Given the description of an element on the screen output the (x, y) to click on. 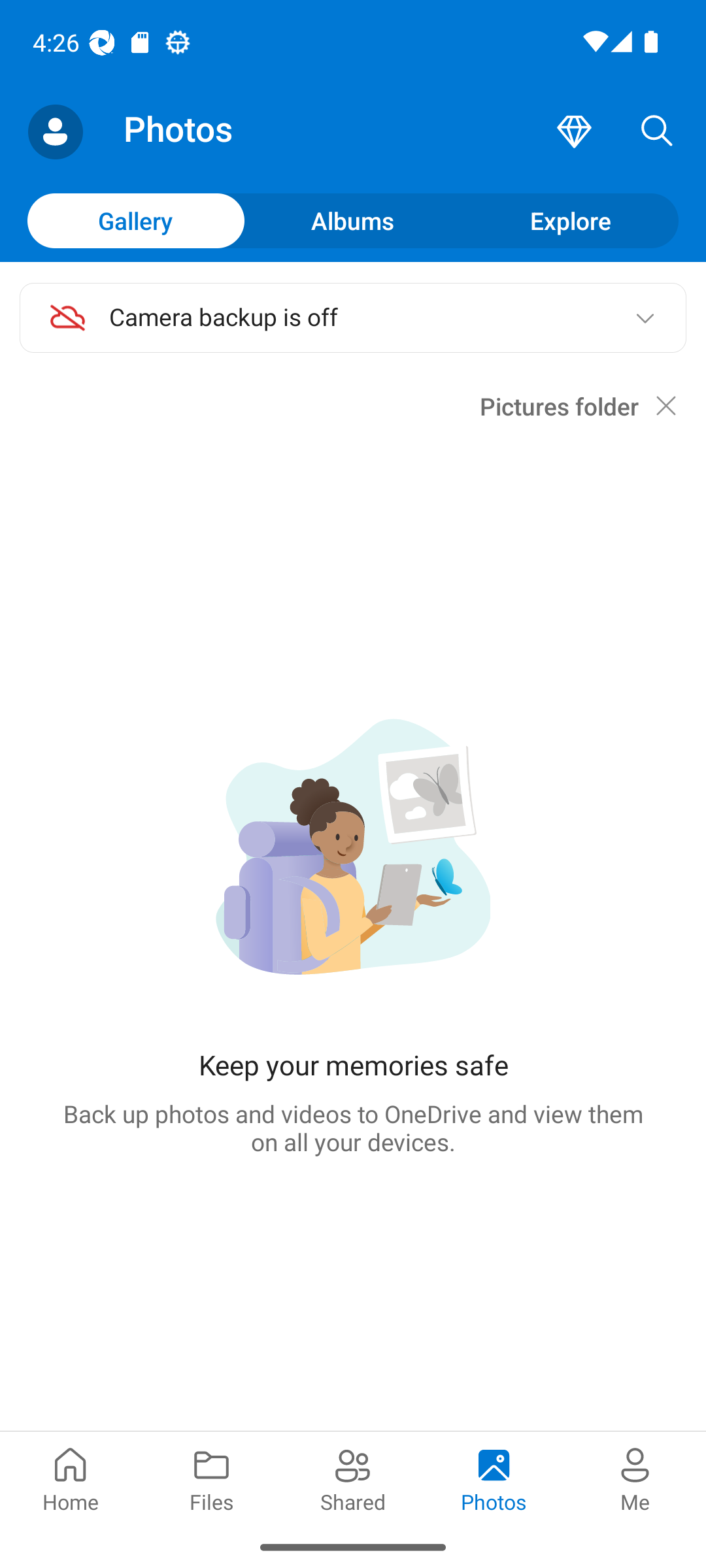
Account switcher (55, 131)
Premium button (574, 131)
Search button (656, 131)
Albums (352, 219)
Explore (569, 219)
Expand camera status banner (645, 318)
Home pivot Home (70, 1478)
Files pivot Files (211, 1478)
Shared pivot Shared (352, 1478)
Me pivot Me (635, 1478)
